Given the description of an element on the screen output the (x, y) to click on. 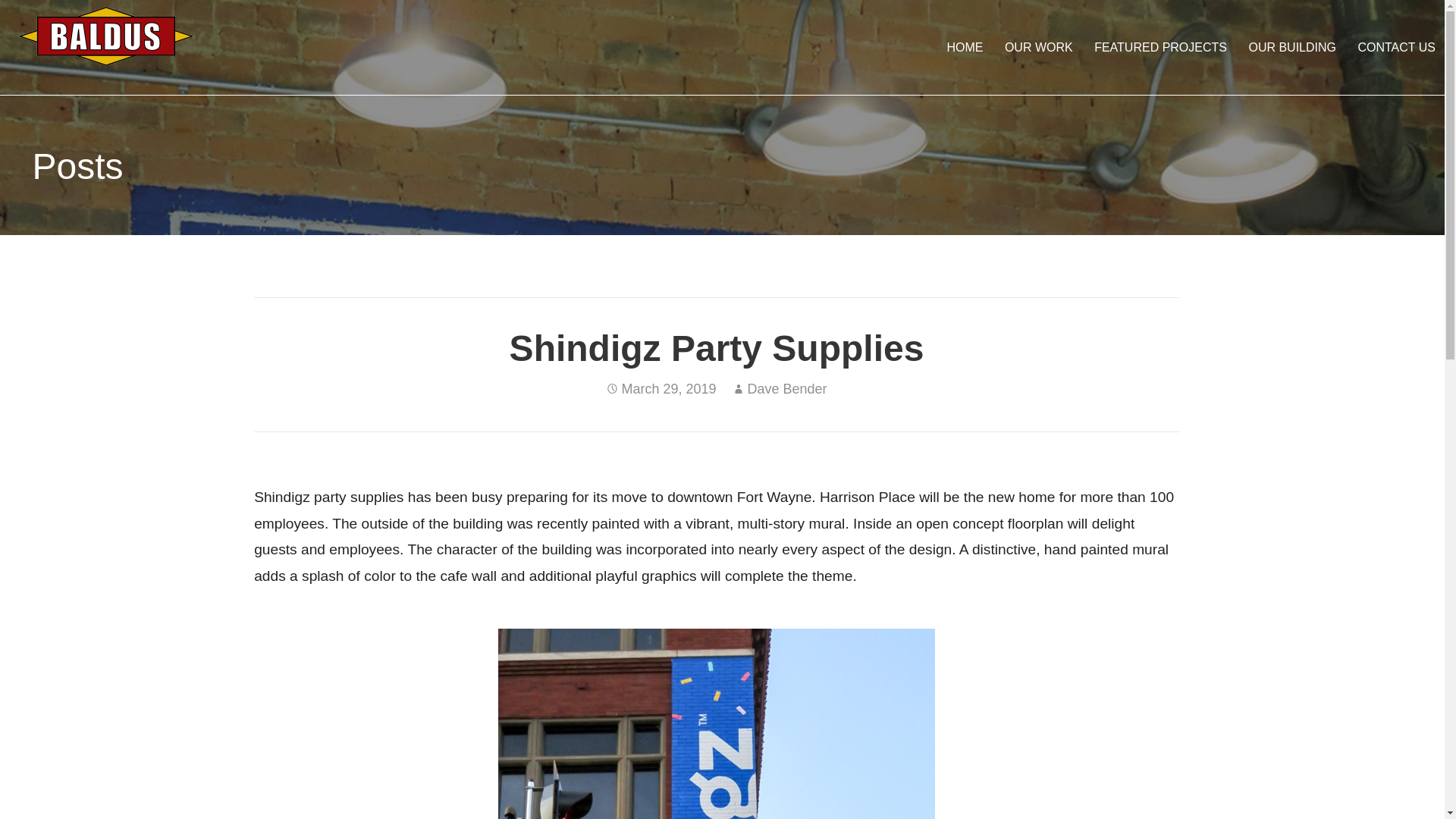
FEATURED PROJECTS (1160, 47)
HOME (964, 47)
Dave Bender (786, 388)
OUR BUILDING (1292, 47)
Posts by Dave Bender (786, 388)
OUR WORK (1038, 47)
